Given the description of an element on the screen output the (x, y) to click on. 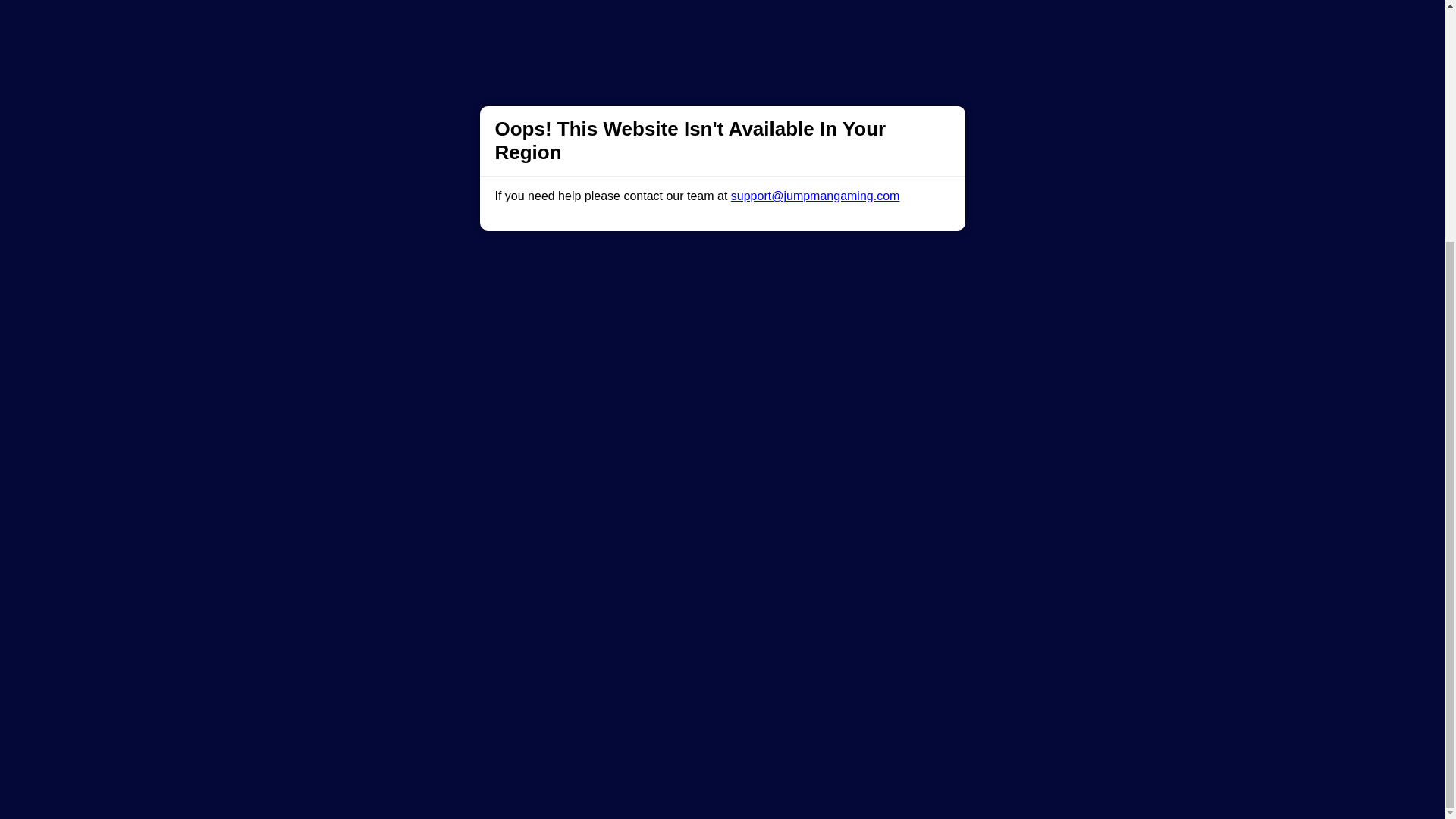
Help (489, 491)
Responsible Gaming (407, 491)
Back To All Games (722, 393)
39175 (997, 694)
Cookie Policy (800, 466)
Back To All Games (721, 393)
Privacy Policy (671, 491)
Affiliates (791, 491)
Jumpman Gaming Limited (521, 694)
www.begambleaware.org (615, 657)
